Given the description of an element on the screen output the (x, y) to click on. 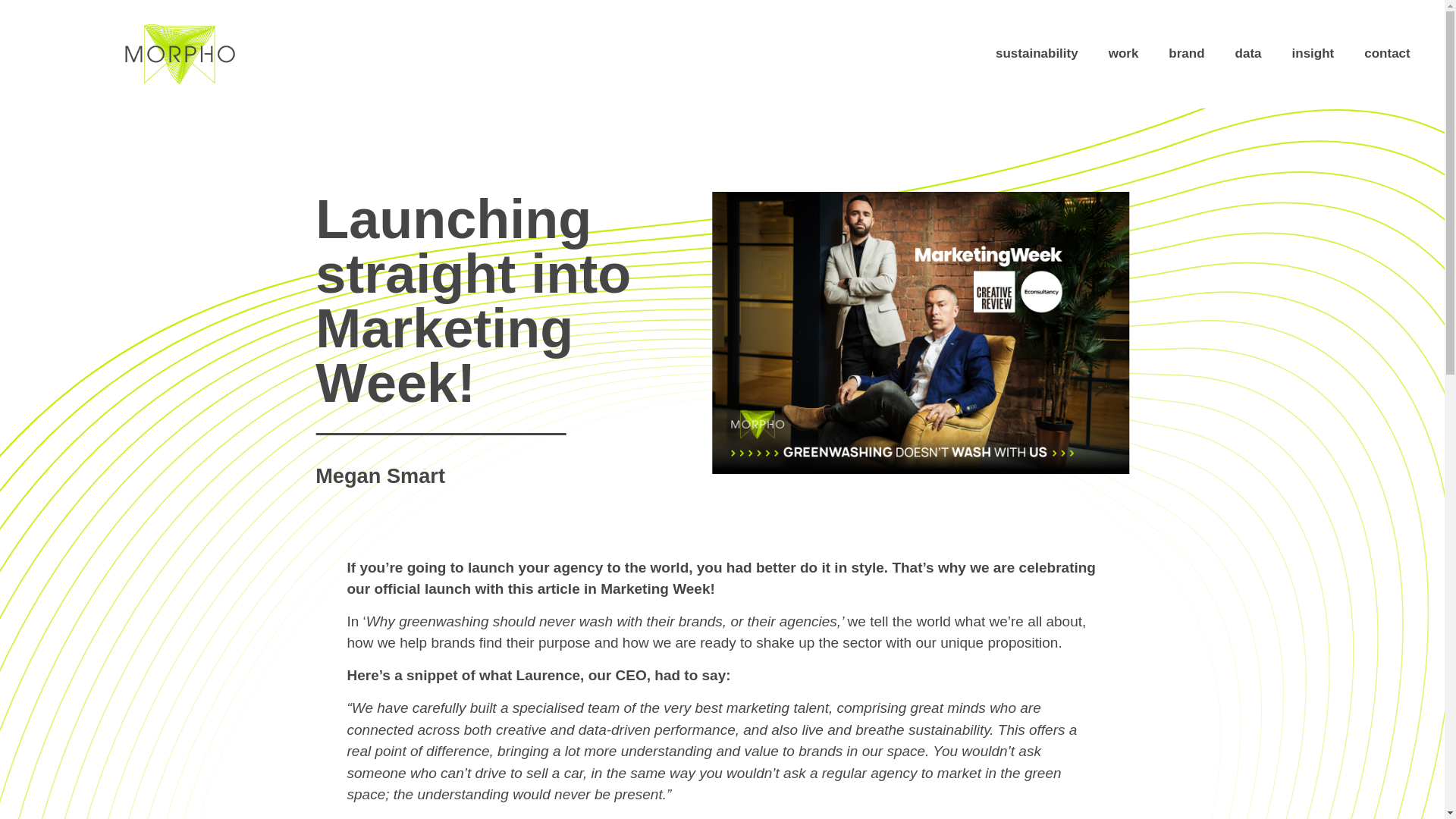
sustainability (1036, 53)
work (1123, 53)
insight (1312, 53)
brand (1187, 53)
data (1248, 53)
contact (1387, 53)
